Given the description of an element on the screen output the (x, y) to click on. 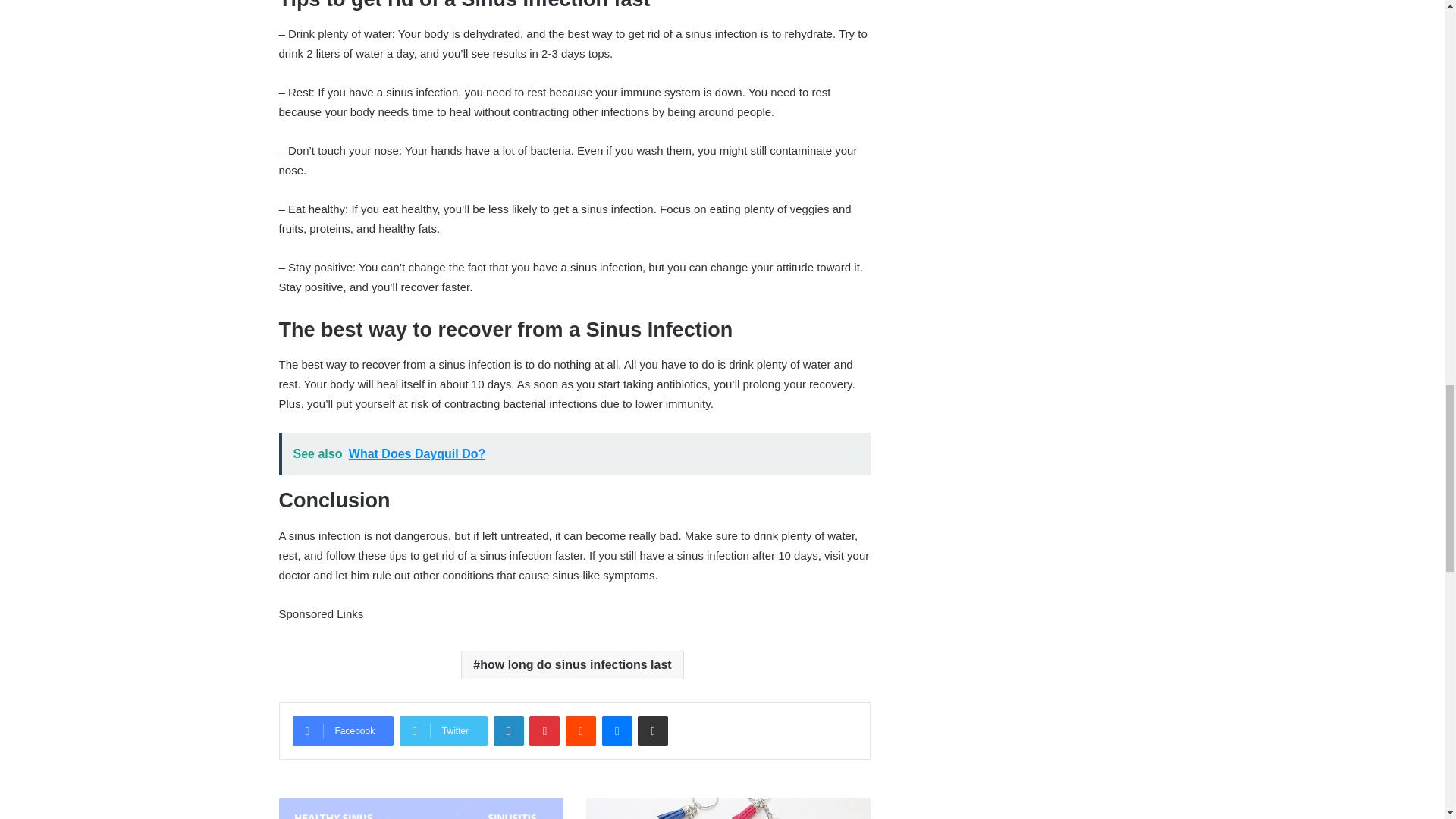
See also  What Does Dayquil Do? (574, 454)
how long do sinus infections last (571, 664)
Facebook (343, 730)
